Given the description of an element on the screen output the (x, y) to click on. 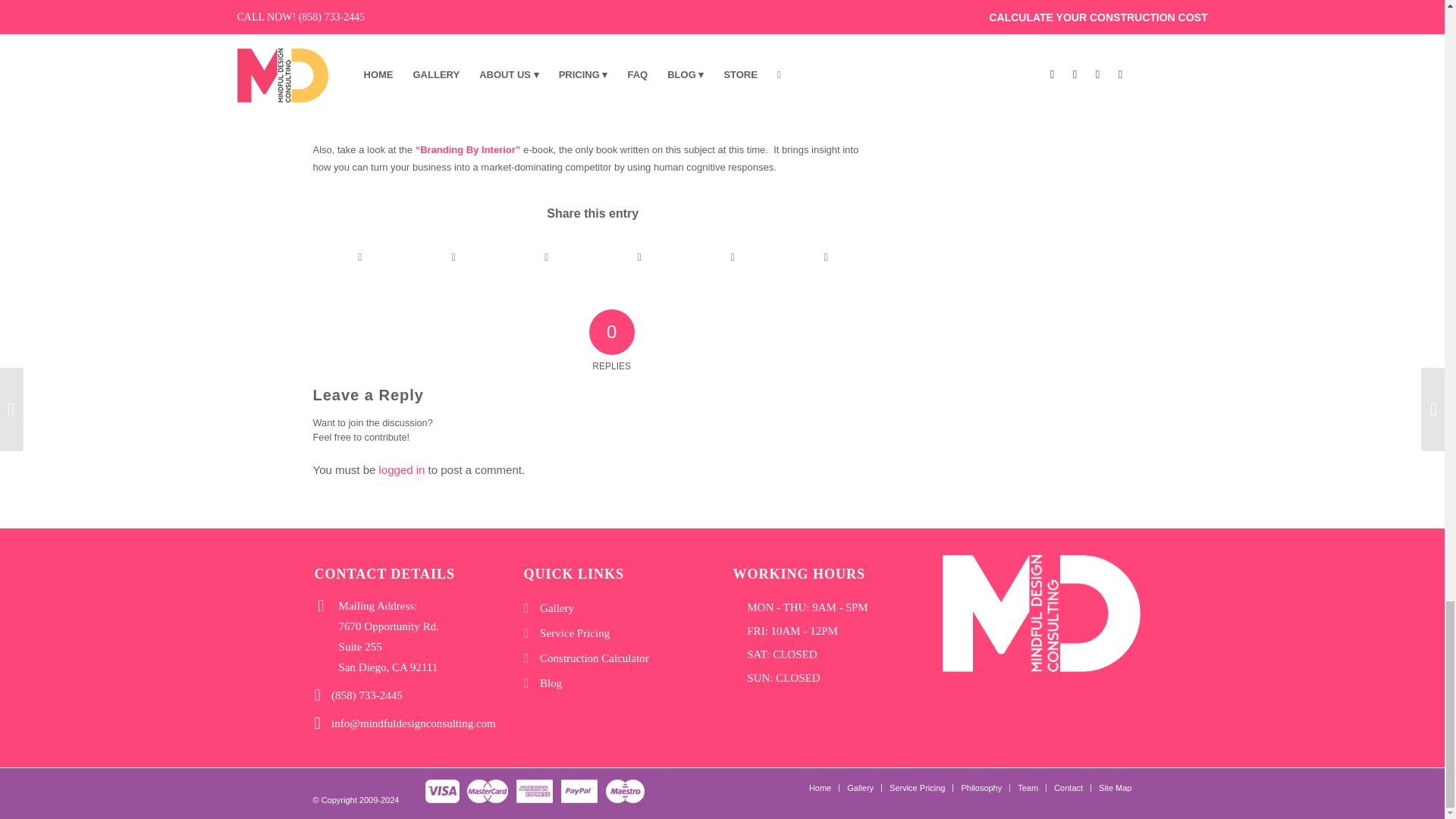
HERE (347, 122)
Branding By Interior (467, 149)
Price Request (347, 122)
Price Request (802, 105)
Mindful Design Consulting (802, 105)
